Given the description of an element on the screen output the (x, y) to click on. 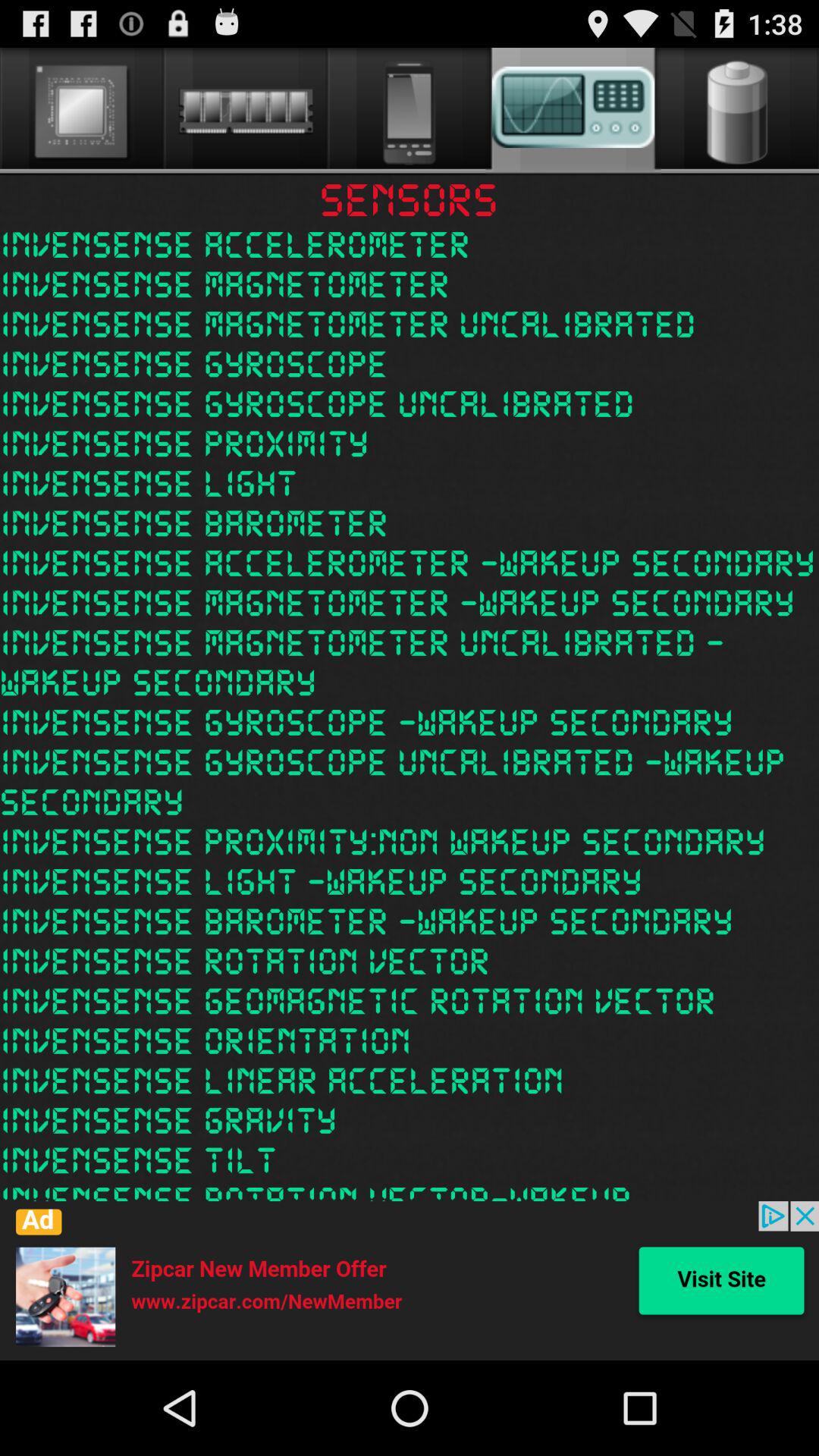
advertise a website (409, 1280)
